Given the description of an element on the screen output the (x, y) to click on. 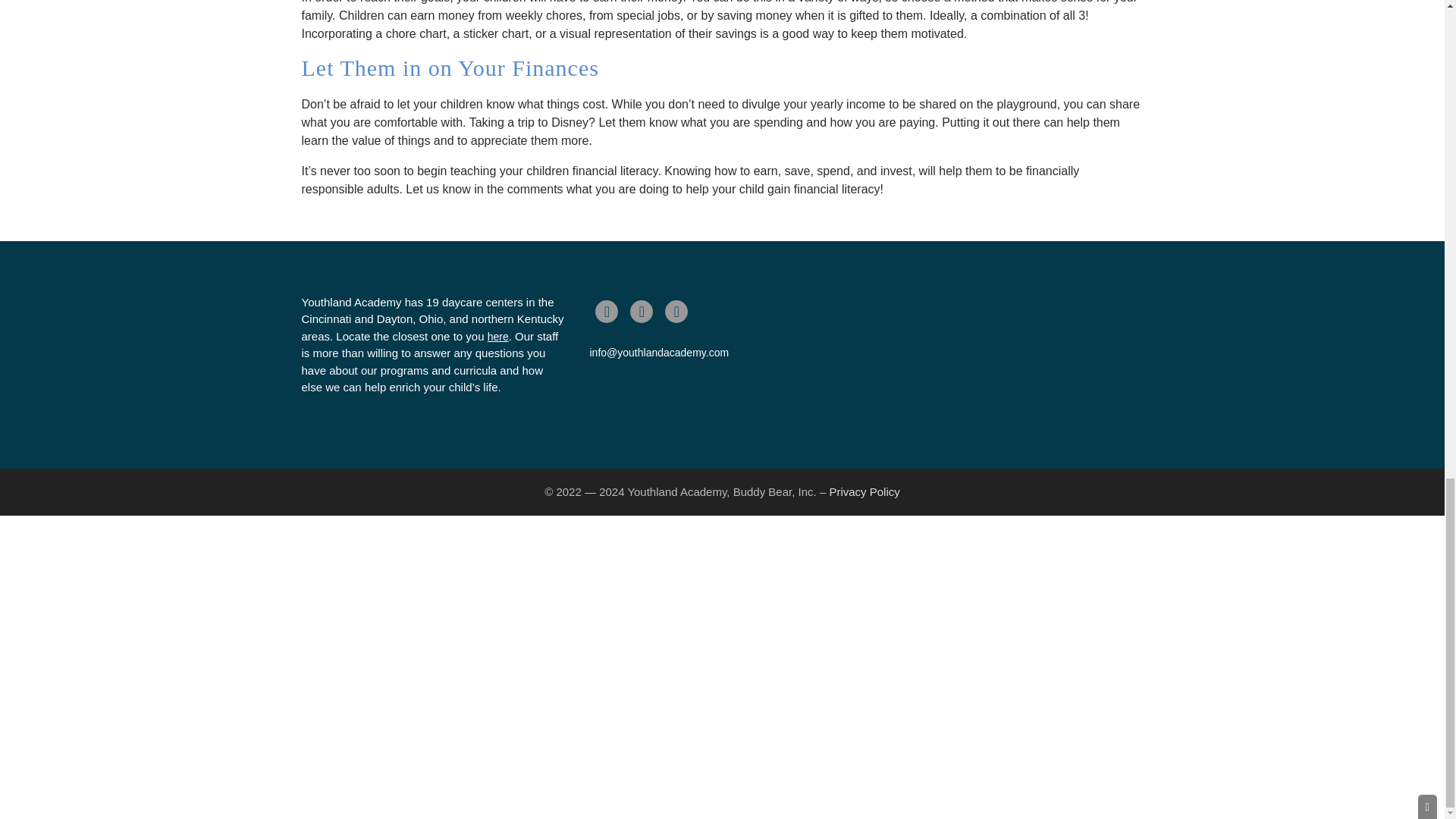
pinterest (676, 311)
twitter (641, 311)
here (497, 336)
Privacy Policy (863, 491)
facebook (606, 311)
